Given the description of an element on the screen output the (x, y) to click on. 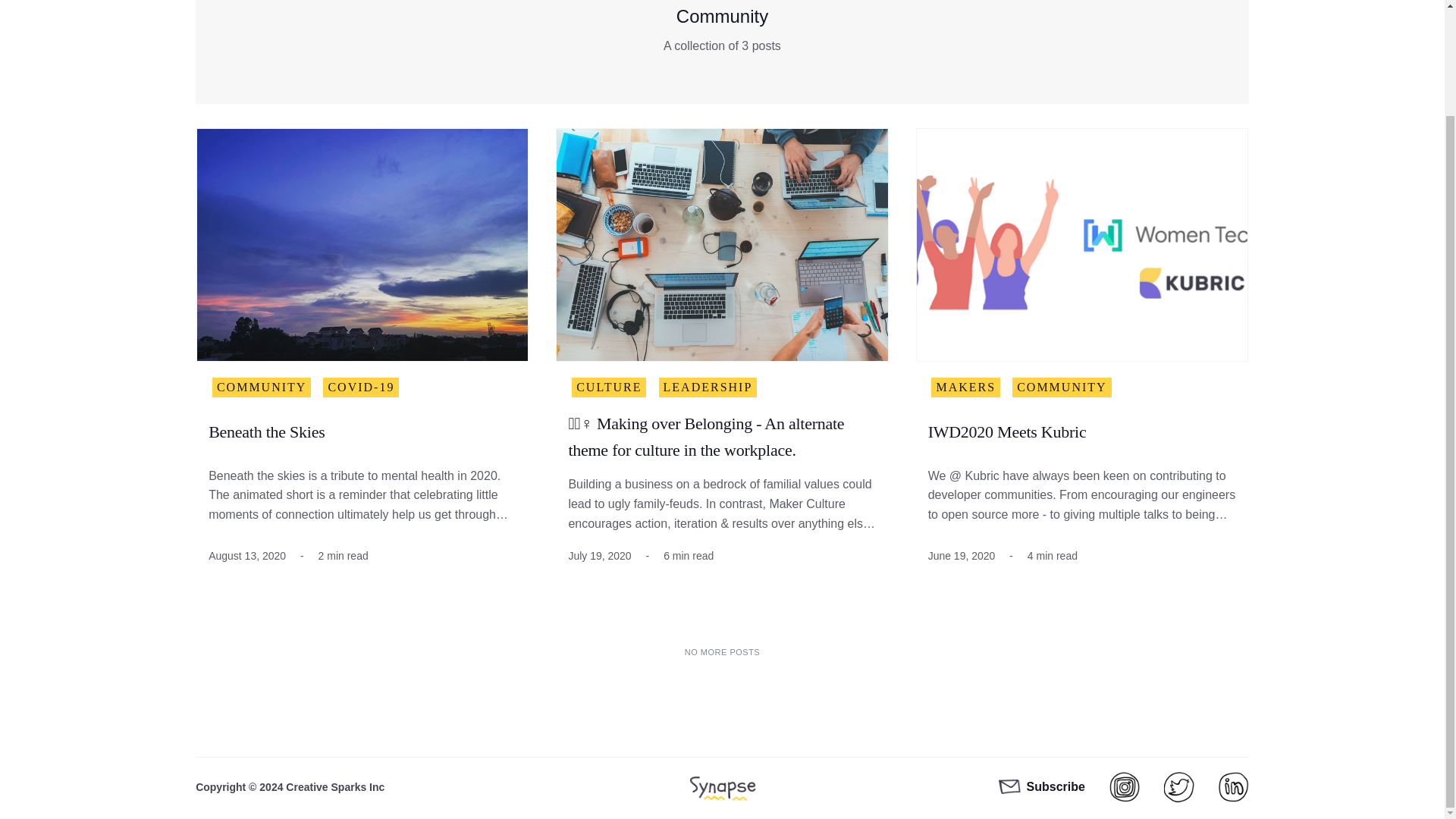
CULTURE (609, 387)
COMMUNITY (1060, 387)
IWD2020 Meets Kubric (1007, 432)
Beneath the Skies (266, 432)
MAKERS (965, 387)
LEADERSHIP (708, 387)
NO MORE POSTS (722, 652)
COMMUNITY (261, 387)
COVID-19 (360, 387)
Subscribe (1041, 786)
